Given the description of an element on the screen output the (x, y) to click on. 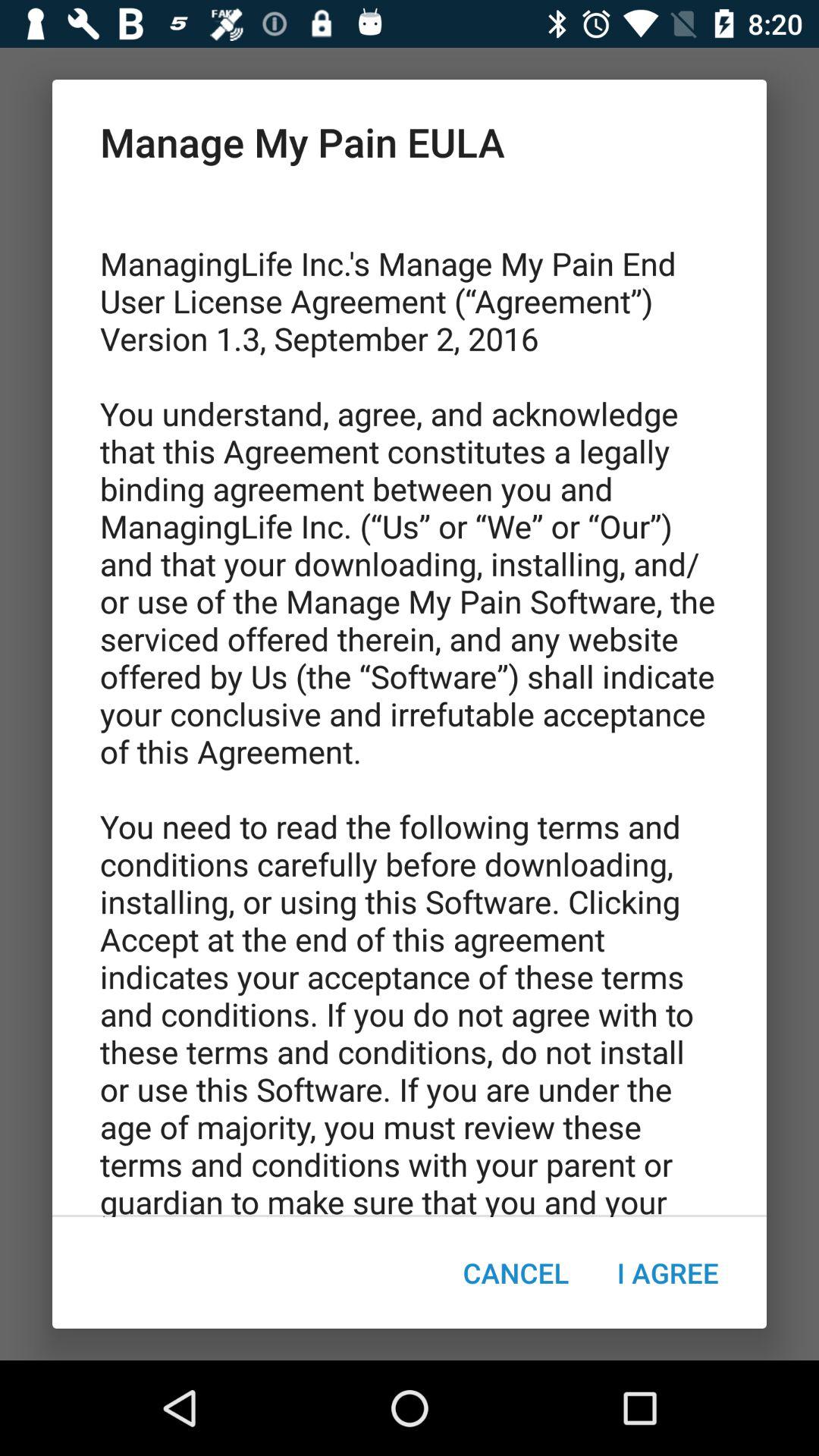
tap the button to the left of i agree (516, 1272)
